Given the description of an element on the screen output the (x, y) to click on. 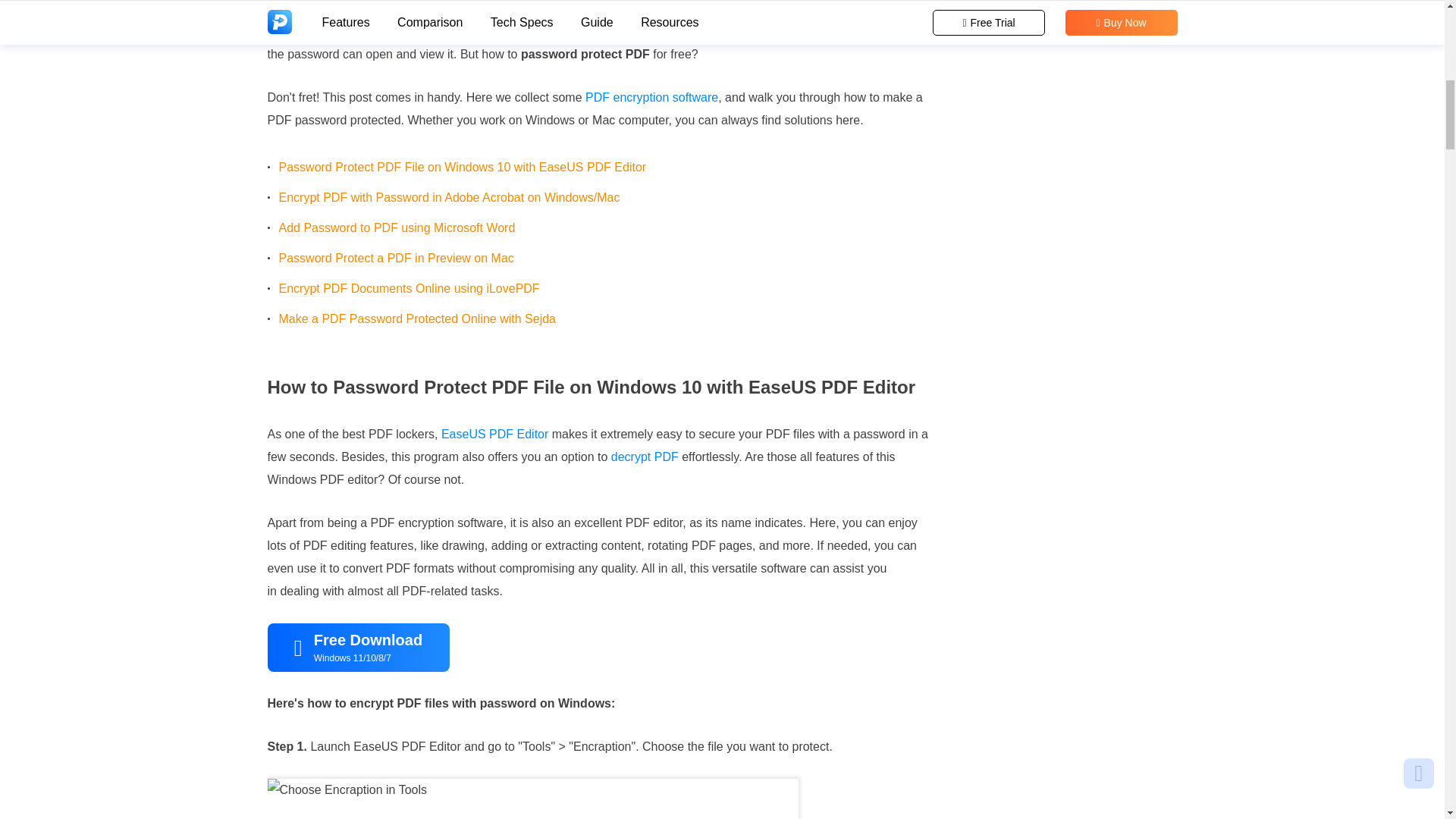
EaseUS PDF Editor (494, 433)
decrypt PDF (644, 456)
Password Protect a PDF in Preview on Mac (396, 257)
Add Password to PDF using Microsoft Word (397, 227)
Encrypt PDF Documents Online using iLovePDF (409, 287)
PDF encryption software (651, 97)
Make a PDF Password Protected Online with Sejda (417, 318)
